Given the description of an element on the screen output the (x, y) to click on. 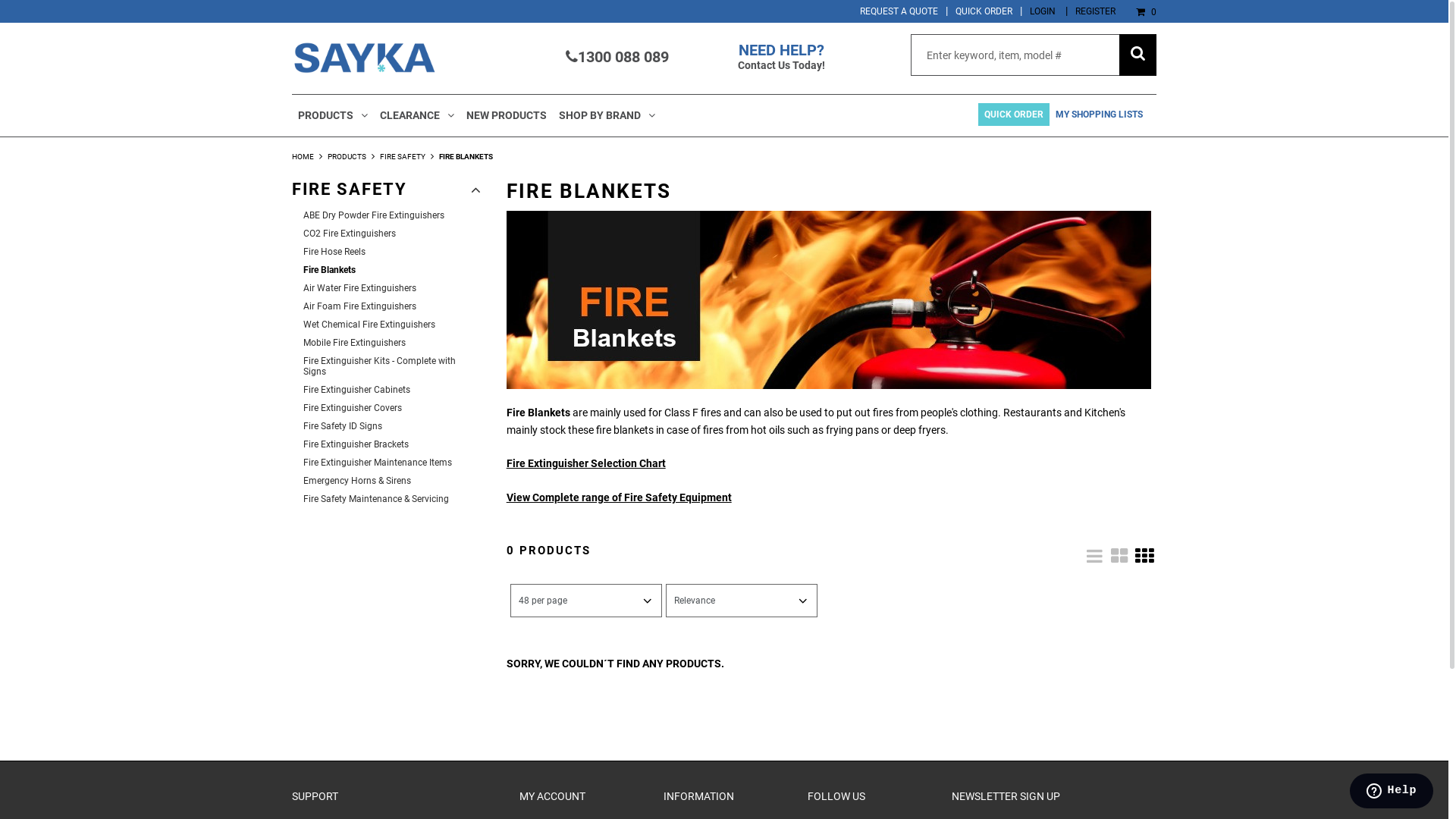
Air Foam Fire Extinguishers Element type: text (391, 306)
ABE Dry Powder Fire Extinguishers Element type: text (391, 215)
PRODUCTS Element type: text (332, 115)
Fire Extinguisher Covers Element type: text (391, 407)
FIRE SAFETY Element type: text (385, 192)
Fire Extinguisher Brackets Element type: text (391, 444)
Fire Safety Maintenance & Servicing Element type: text (391, 498)
Fire Hose Reels Element type: text (391, 251)
1300 088 089 Element type: text (616, 56)
Fire Extinguisher Maintenance Items Element type: text (391, 462)
Fire Extinguisher Kits - Complete with Signs Element type: text (391, 365)
Fire Safety ID Signs Element type: text (391, 426)
SHOP BY BRAND Element type: text (606, 115)
NEW PRODUCTS Element type: text (506, 115)
QUICK ORDER Element type: text (1013, 114)
Fire Extinguisher Selection Chart Element type: text (585, 463)
REQUEST A QUOTE Element type: text (898, 11)
Mobile Fire Extinguishers Element type: text (391, 342)
Grid Element type: hover (1143, 553)
Air Water Fire Extinguishers Element type: text (391, 288)
Fire Blankets Element type: text (391, 269)
GO Element type: text (1136, 54)
FIRE SAFETY Element type: text (402, 156)
QUICK ORDER Element type: text (983, 11)
MY SHOPPING LISTS Element type: text (1098, 114)
NEED HELP?
Contact Us Today! Element type: text (781, 55)
0 Element type: text (1139, 11)
HOME Element type: text (303, 156)
Emergency Horns & Sirens Element type: text (391, 480)
Wet Chemical Fire Extinguishers Element type: text (391, 324)
View Complete range of Fire Safety Equipment Element type: text (618, 497)
Search Element type: hover (1137, 54)
List Element type: hover (1093, 553)
REGISTER Element type: text (1095, 11)
PRODUCTS Element type: text (347, 156)
CO2 Fire Extinguishers Element type: text (391, 233)
SAYKA Element type: hover (363, 58)
Fire Extinguisher Cabinets Element type: text (391, 389)
Opens a widget where you can chat to one of our agents Element type: hover (1391, 792)
CLEARANCE Element type: text (416, 115)
LOGIN Element type: text (1042, 11)
Table Element type: hover (1118, 553)
